Given the description of an element on the screen output the (x, y) to click on. 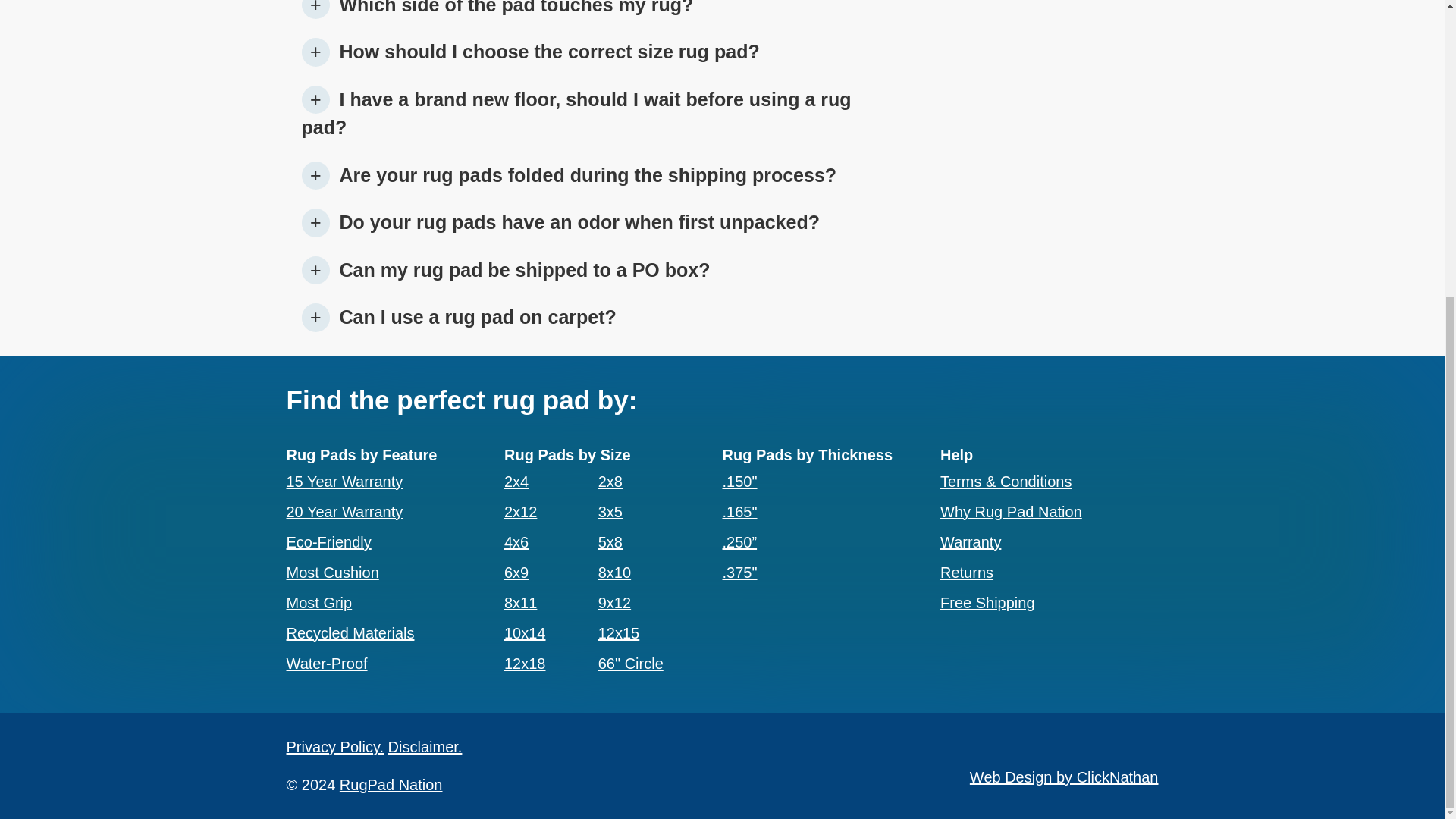
.375" (739, 572)
15 Year Warranty (344, 481)
10x14 (524, 632)
9x12 (614, 602)
5x8 (610, 541)
Most Cushion (332, 572)
2x8 (610, 481)
.150" (739, 481)
Eco-Friendly (328, 541)
Most Grip (319, 602)
12x18 (524, 663)
2x4 (515, 481)
66" Circle (630, 663)
6x9 (515, 572)
8x11 (520, 602)
